Given the description of an element on the screen output the (x, y) to click on. 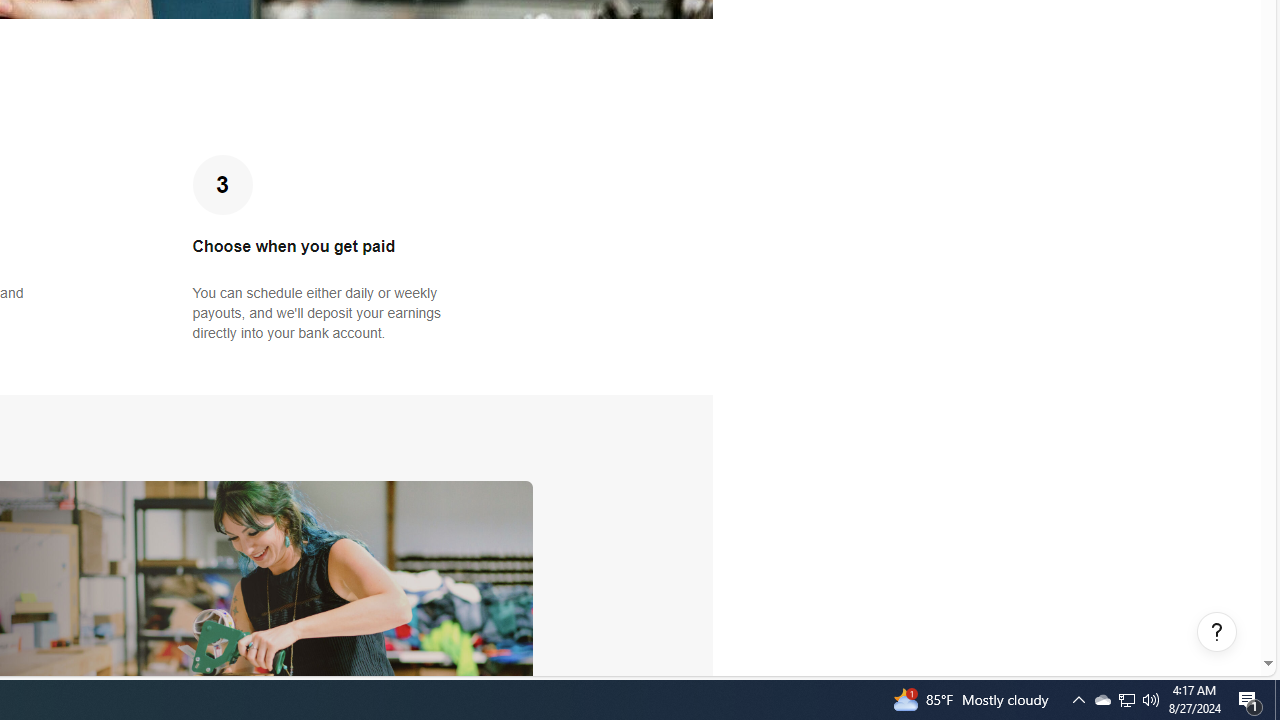
Help, opens dialogs (1217, 632)
